Given the description of an element on the screen output the (x, y) to click on. 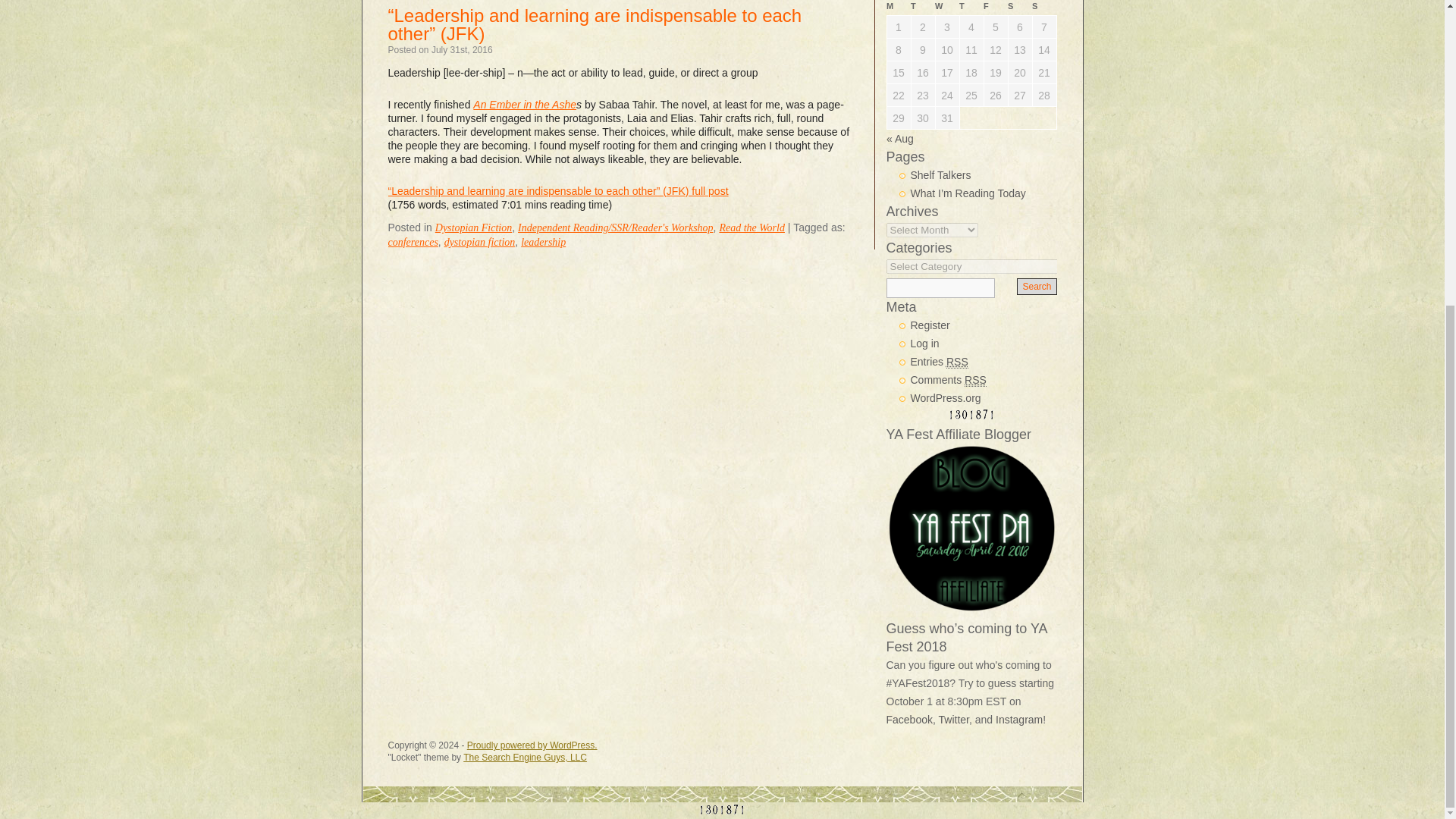
Shelf Talkers (940, 174)
Thursday (971, 7)
leadership (543, 242)
The Search Engine Guys, LLC (524, 757)
Saturday (1019, 7)
Register (929, 325)
Read the World (751, 227)
Dystopian Fiction (473, 227)
Search (1036, 286)
dystopian fiction (479, 242)
Twitter (954, 719)
Semantic Personal Publishing Platform (531, 745)
Really Simple Syndication (957, 361)
Facebook (908, 719)
